Given the description of an element on the screen output the (x, y) to click on. 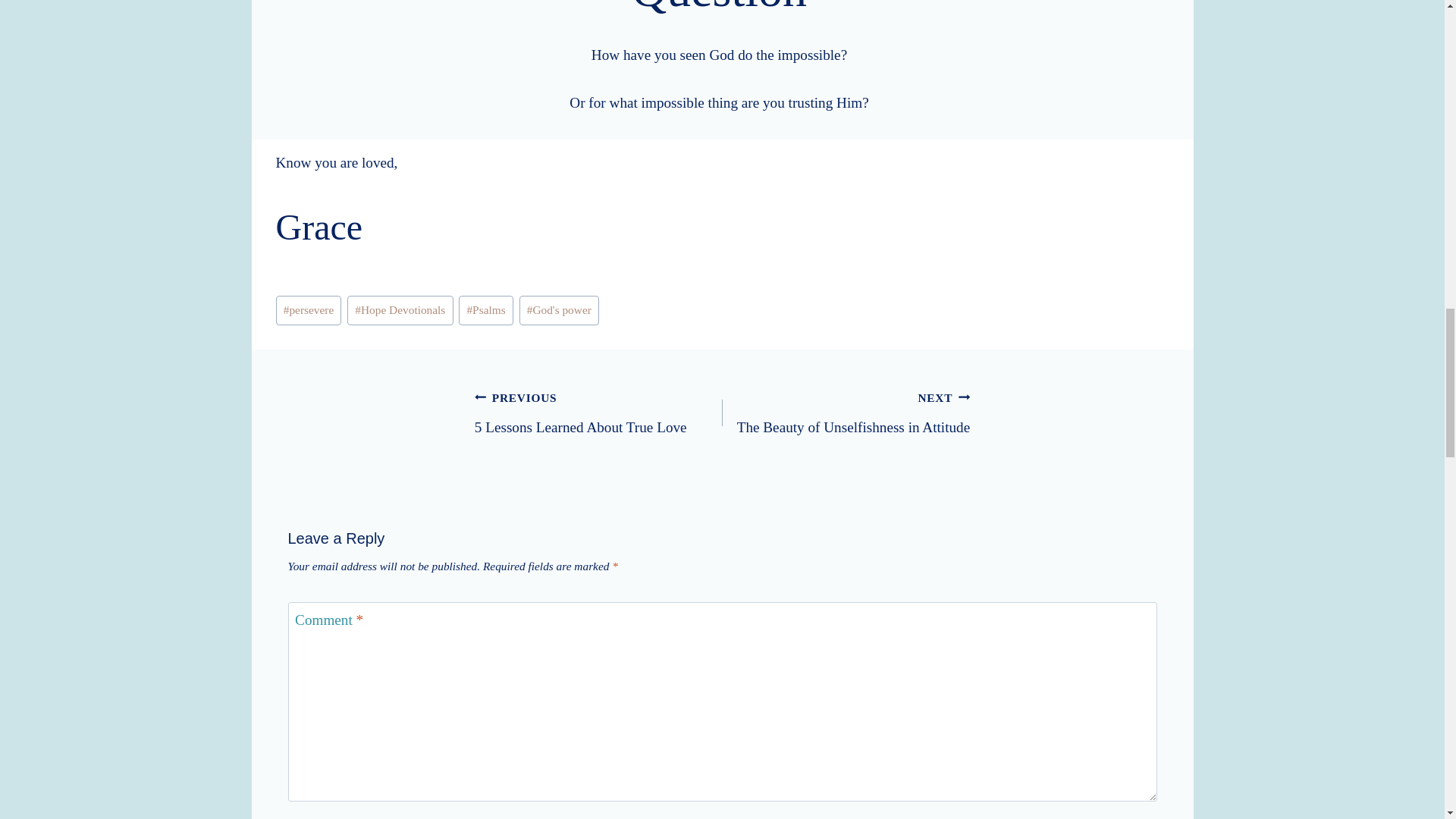
Hope Devotionals (399, 310)
God's power (845, 412)
persevere (598, 412)
Psalms (559, 310)
